Given the description of an element on the screen output the (x, y) to click on. 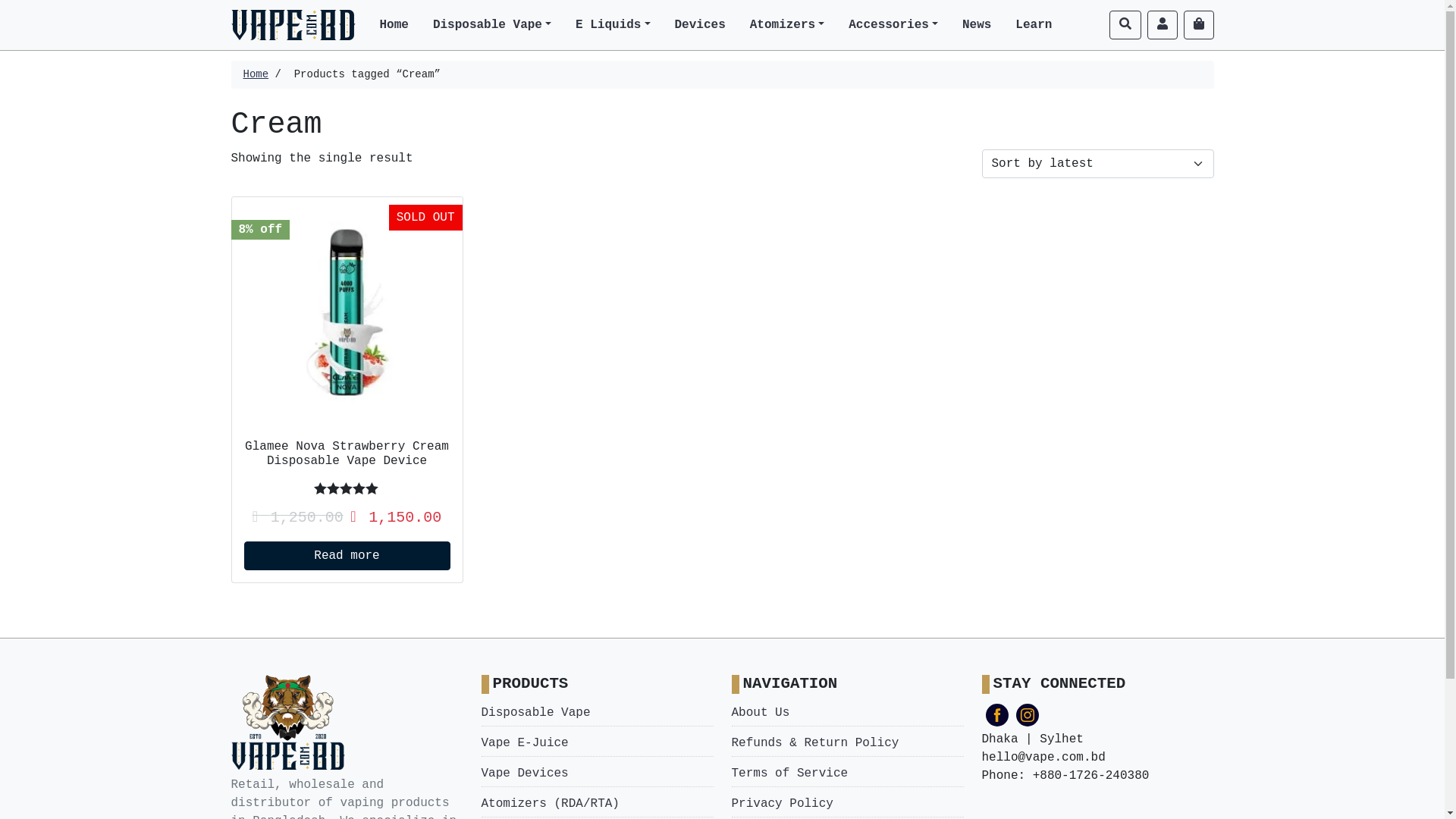
Privacy Policy Element type: text (847, 803)
Home Element type: text (255, 74)
Refunds & Return Policy Element type: text (847, 743)
Disposable Vape Element type: text (491, 24)
SOLD OUT
8% off Element type: text (347, 312)
Home Element type: text (393, 24)
Read more Element type: text (347, 555)
Atomizers Element type: text (787, 24)
Devices Element type: text (699, 24)
Vape E-Juice Element type: text (596, 743)
News Element type: text (976, 24)
About Us Element type: text (847, 712)
Accessories Element type: text (893, 24)
E Liquids Element type: text (612, 24)
Vape Devices Element type: text (596, 773)
Terms of Service Element type: text (847, 773)
Learn Element type: text (1033, 24)
Disposable Vape Element type: text (596, 712)
Atomizers (RDA/RTA) Element type: text (596, 803)
